Given the description of an element on the screen output the (x, y) to click on. 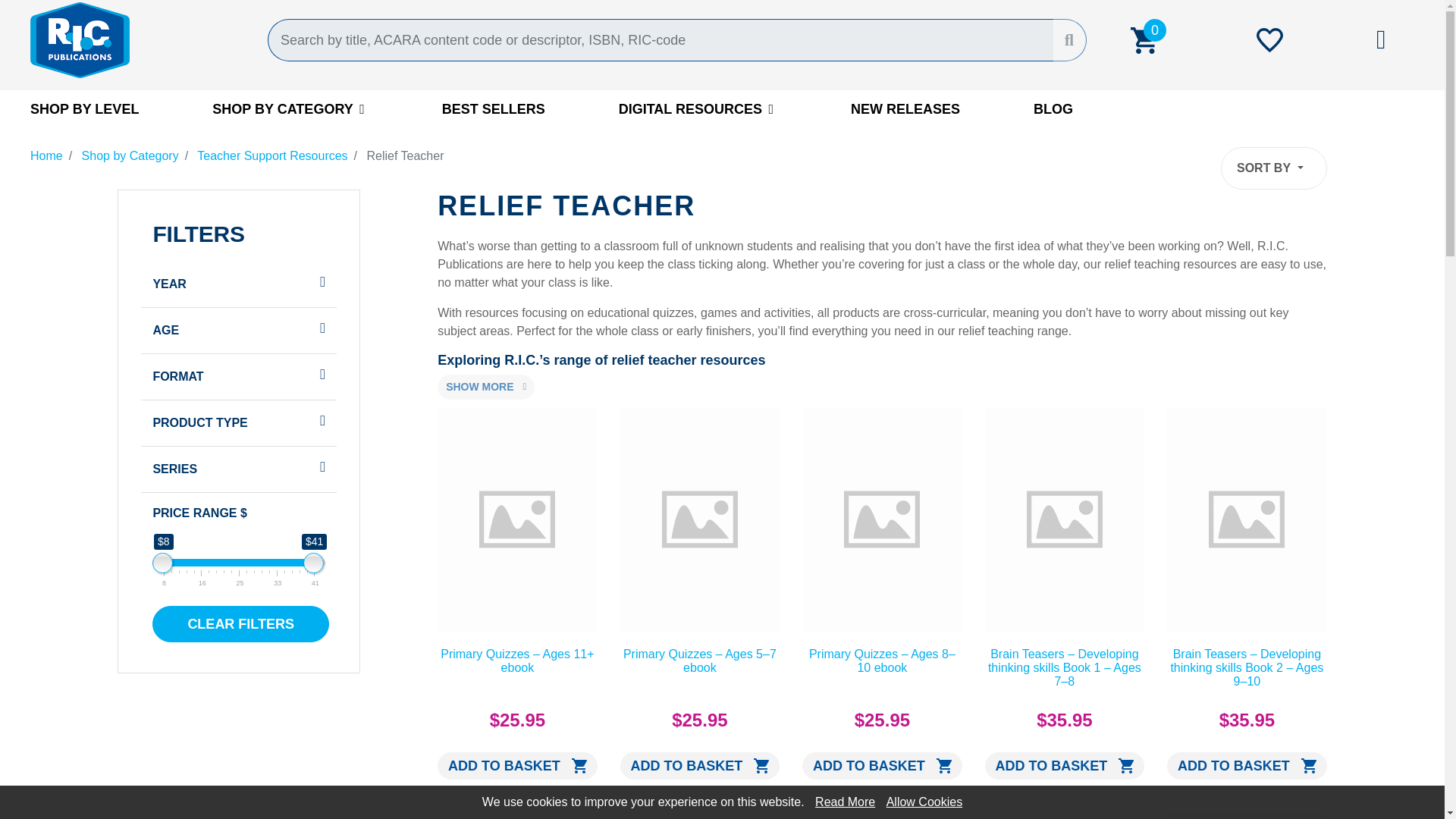
Read More (845, 801)
R.I.C. Publications (137, 39)
0 (1142, 39)
Sort By (1273, 168)
R.I.C. Publications (137, 39)
Allow Cookies (924, 801)
SHOP BY LEVEL (84, 108)
SHOP BY CATEGORY (290, 108)
